Given the description of an element on the screen output the (x, y) to click on. 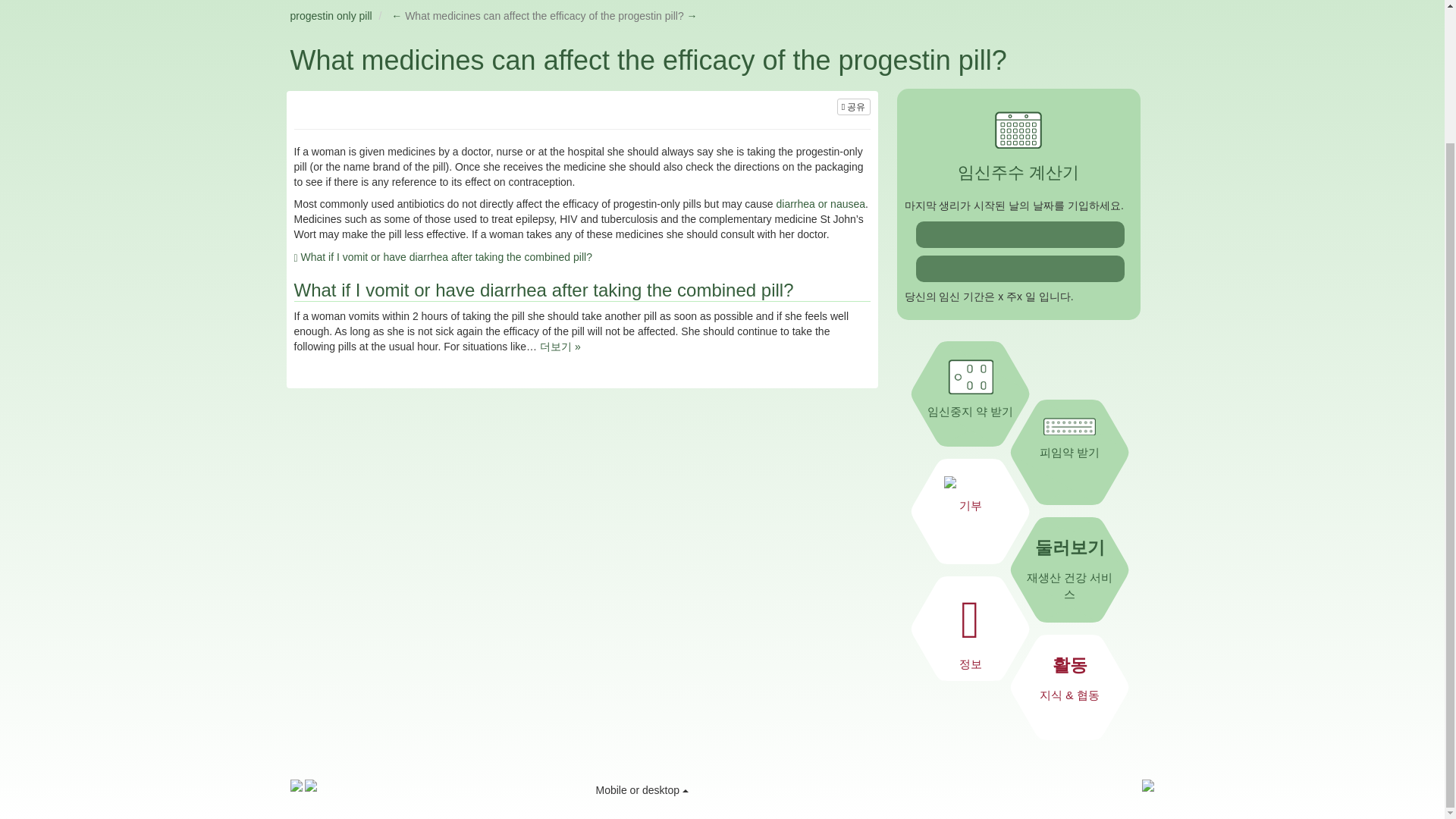
progestin only pill (330, 15)
Share this page (853, 106)
